Given the description of an element on the screen output the (x, y) to click on. 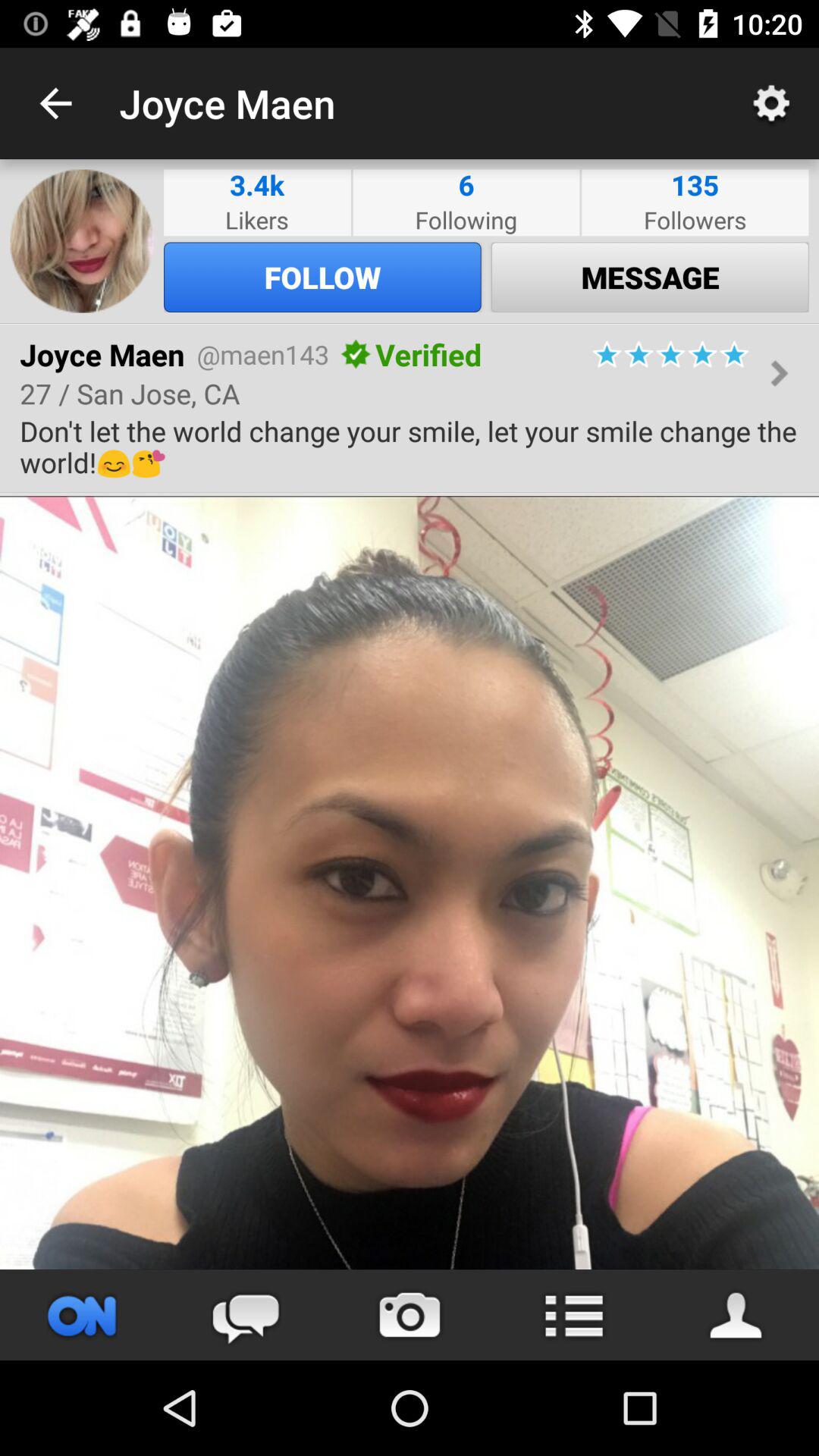
press the icon next to the follow item (649, 277)
